Given the description of an element on the screen output the (x, y) to click on. 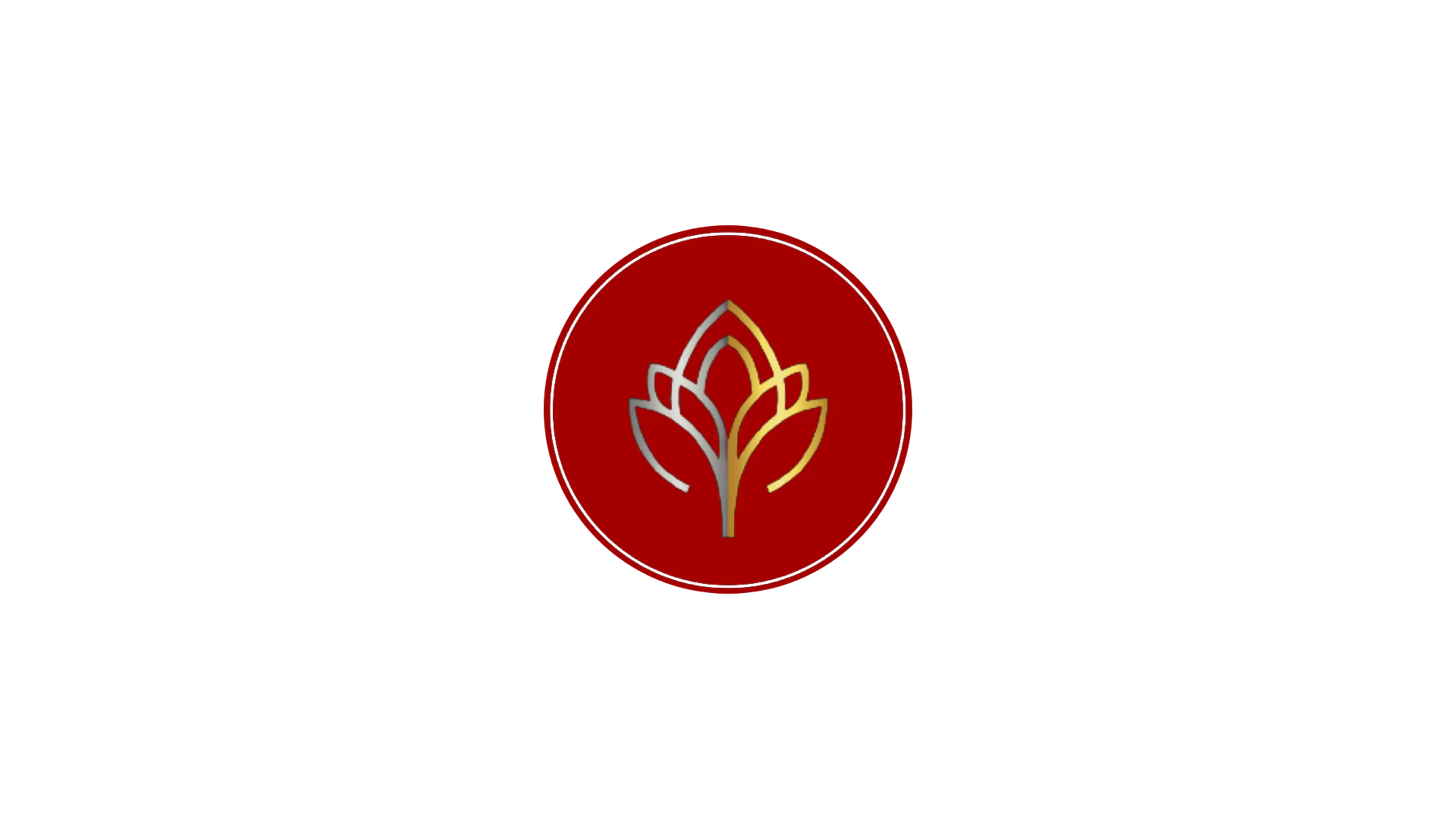
For Him (637, 146)
GCASH Payment Now Accepted! (958, 12)
GCASH Payment Now Accepted! (642, 12)
All Collections (929, 141)
GCASH Payment Now Accepted! (484, 12)
GCASH Payment Now Accepted! (1274, 12)
New Arrivals (813, 143)
GCASH Payment Now Accepted! (800, 12)
For Her (718, 144)
GCASH Payment Now Accepted! (45, 12)
